Given the description of an element on the screen output the (x, y) to click on. 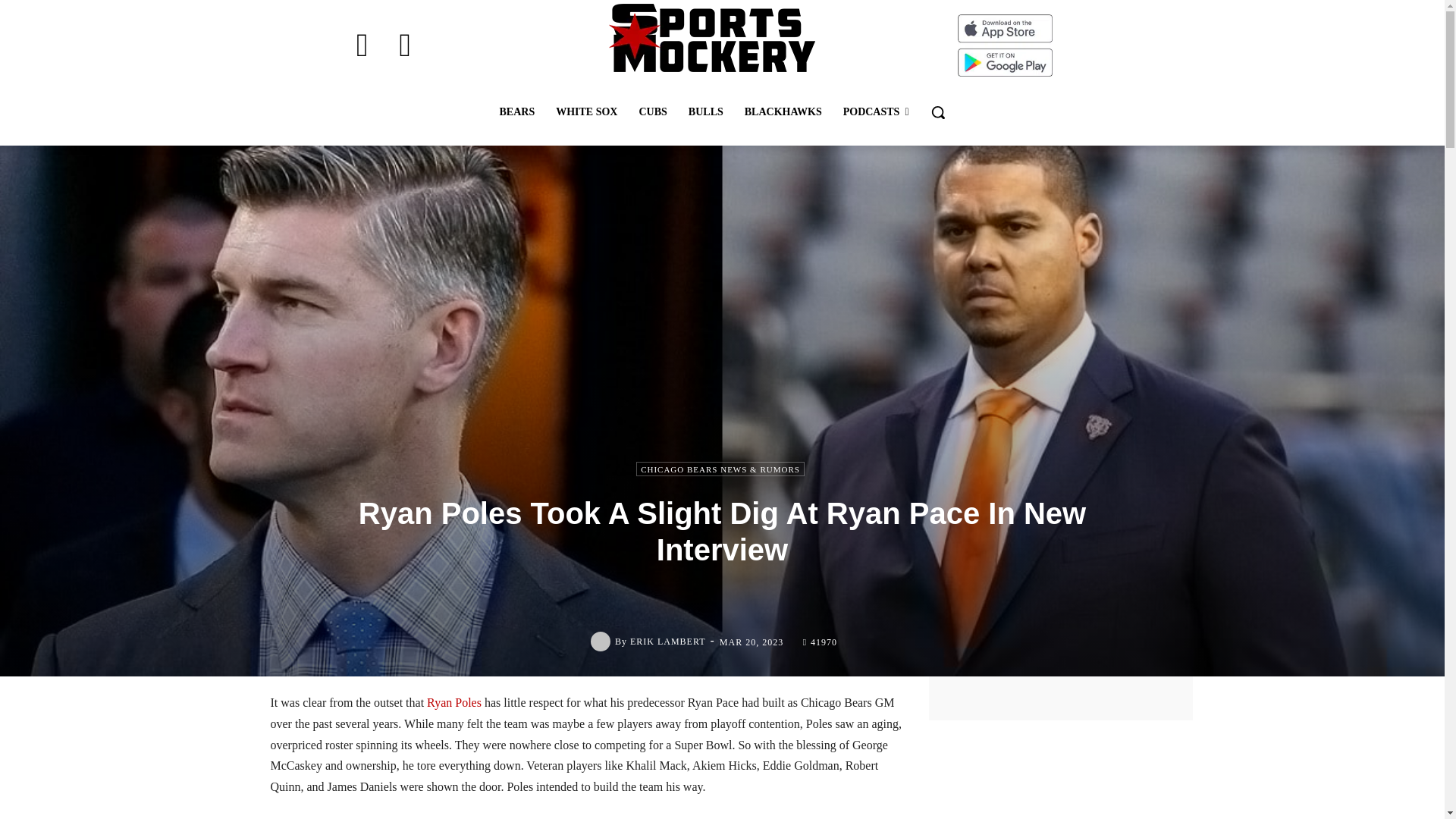
BEARS (515, 112)
Facebook (361, 45)
PODCASTS (876, 112)
BULLS (705, 112)
WHITE SOX (585, 112)
CUBS (652, 112)
Twitter (405, 45)
Chicago Sports News (711, 38)
Chicago Sports News (711, 38)
BLACKHAWKS (782, 112)
